Given the description of an element on the screen output the (x, y) to click on. 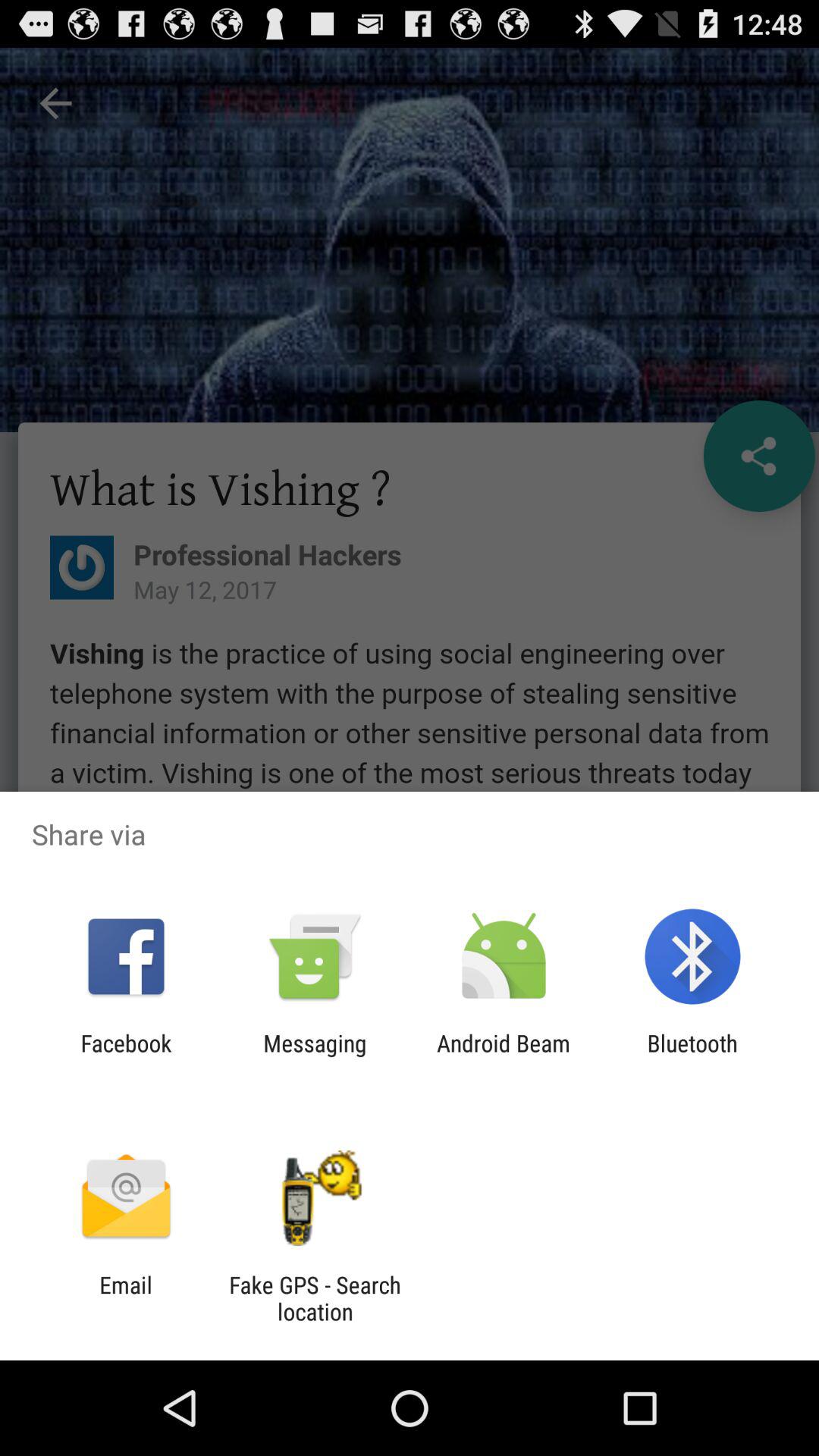
press app to the left of the bluetooth (503, 1056)
